Given the description of an element on the screen output the (x, y) to click on. 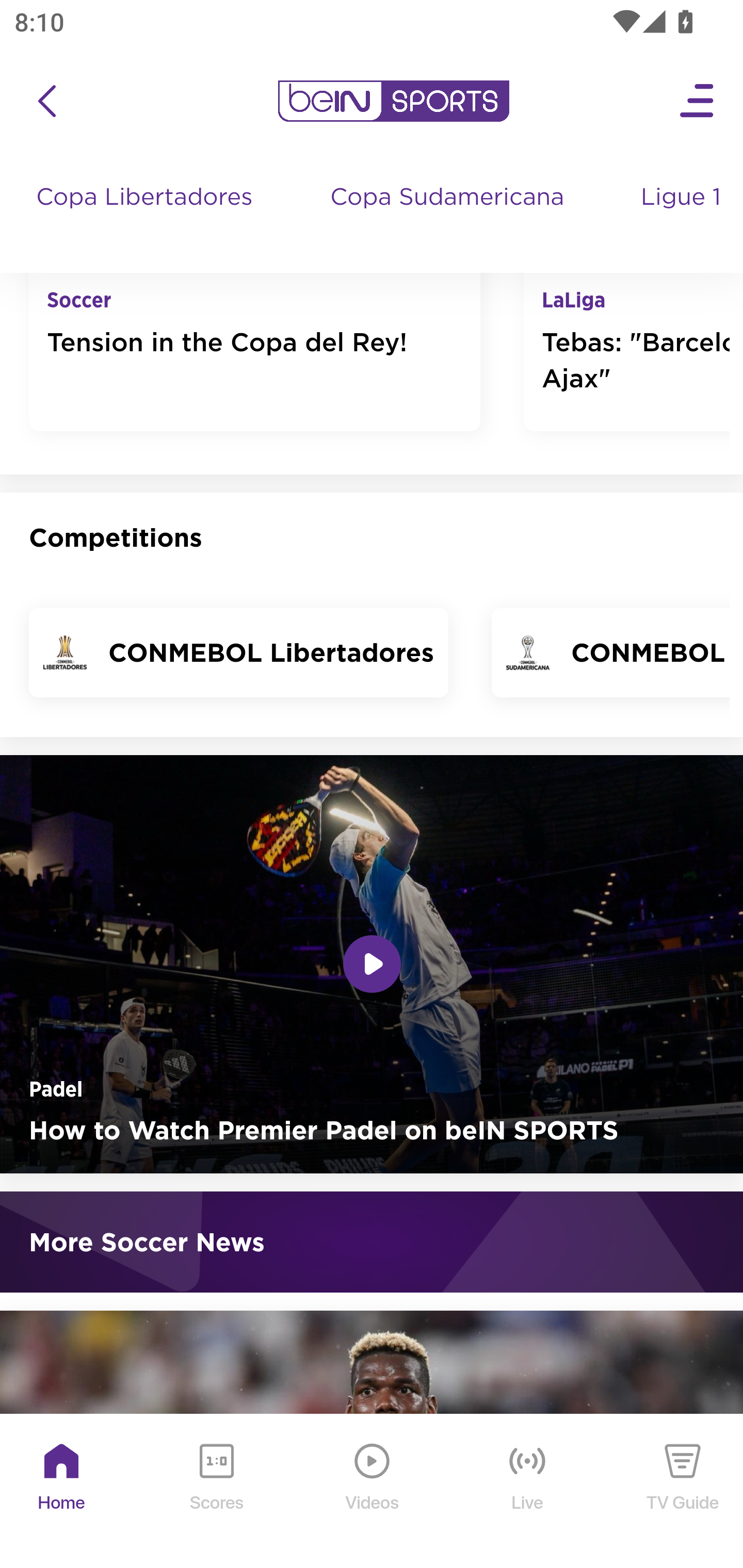
en-us?platform=mobile_android bein logo (392, 101)
icon back (46, 101)
Open Menu Icon (697, 101)
Copa Libertadores (146, 216)
Copa Sudamericana (448, 216)
Ligue 1 (682, 216)
Home Home Icon Home (61, 1491)
Scores Scores Icon Scores (216, 1491)
Videos Videos Icon Videos (372, 1491)
TV Guide TV Guide Icon TV Guide (682, 1491)
